Given the description of an element on the screen output the (x, y) to click on. 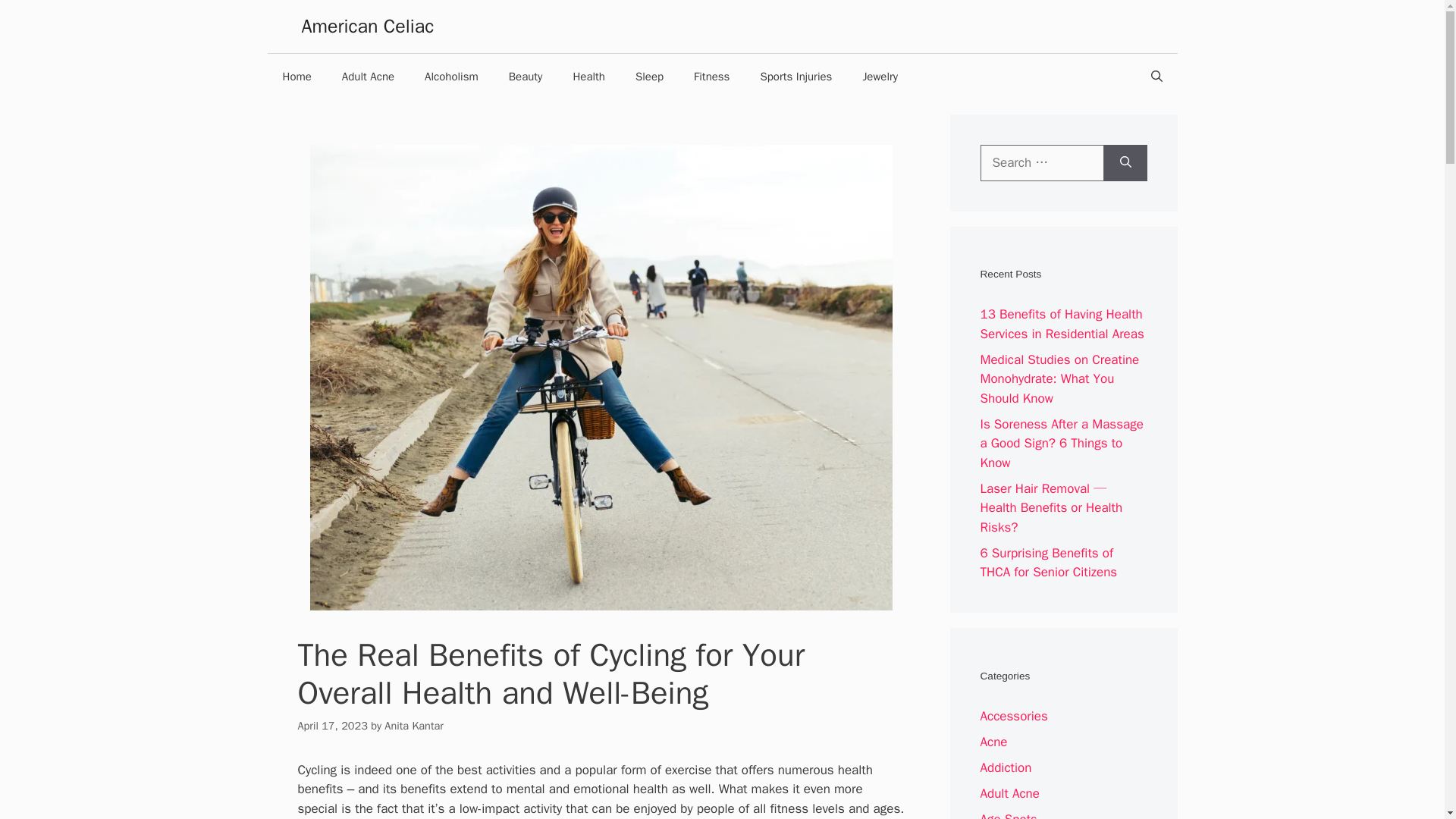
Anita Kantar (414, 725)
Addiction (1004, 767)
Beauty (525, 76)
Jewelry (879, 76)
Accessories (1012, 715)
Fitness (711, 76)
6 Surprising Benefits of THCA for Senior Citizens (1047, 562)
View all posts by Anita Kantar (414, 725)
American Celiac (367, 25)
Home (296, 76)
Alcoholism (451, 76)
Adult Acne (367, 76)
Sports Injuries (795, 76)
Acne (993, 741)
